Given the description of an element on the screen output the (x, y) to click on. 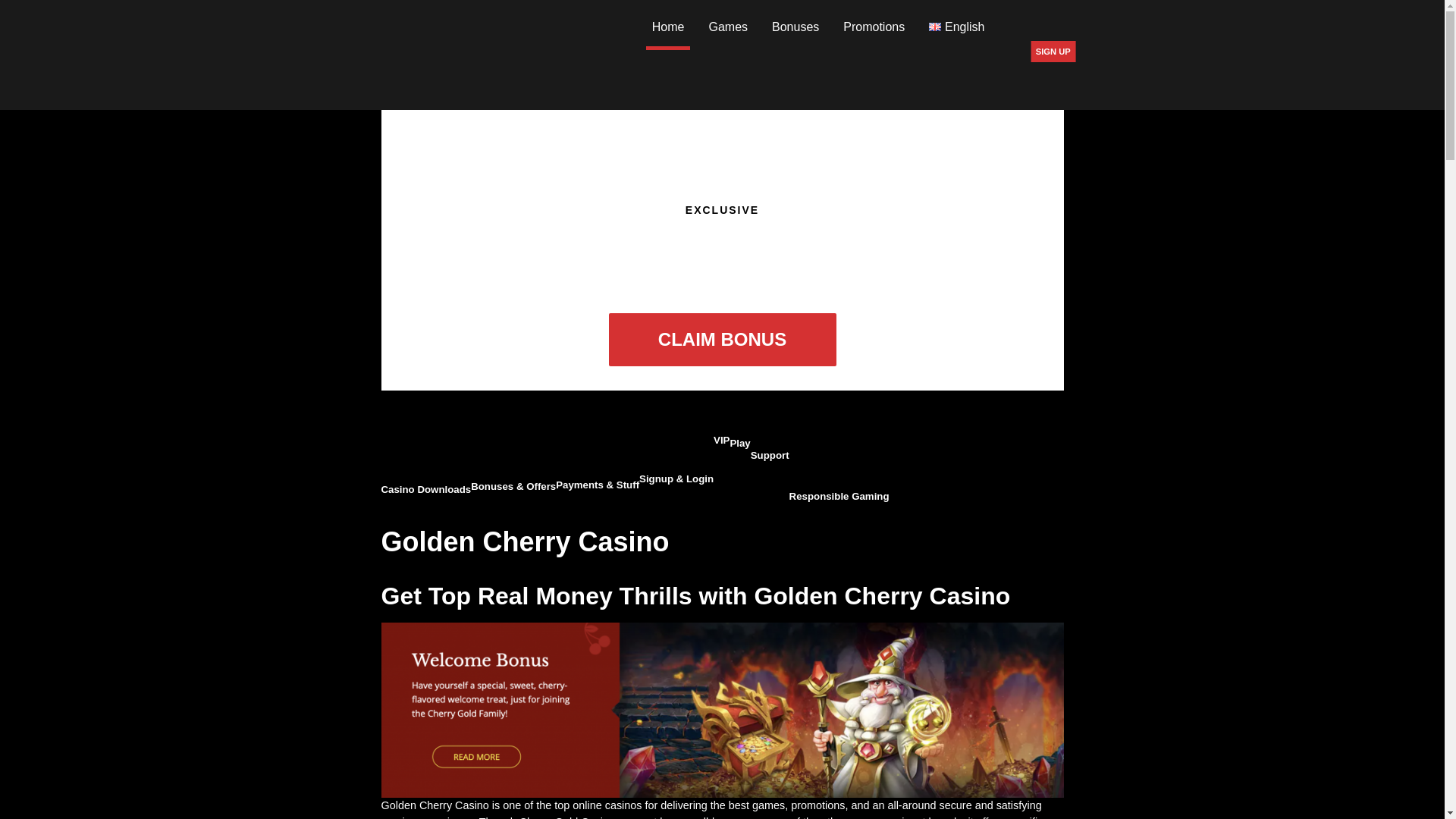
Promotions (874, 28)
English (956, 28)
Responsible Gaming (839, 489)
Golden Cherry Casino (444, 54)
Home (668, 28)
Golden Cherry Casino 1 (721, 709)
Bonuses (795, 28)
CLAIM BONUS (721, 339)
SIGN UP (1052, 51)
Support (770, 448)
